Given the description of an element on the screen output the (x, y) to click on. 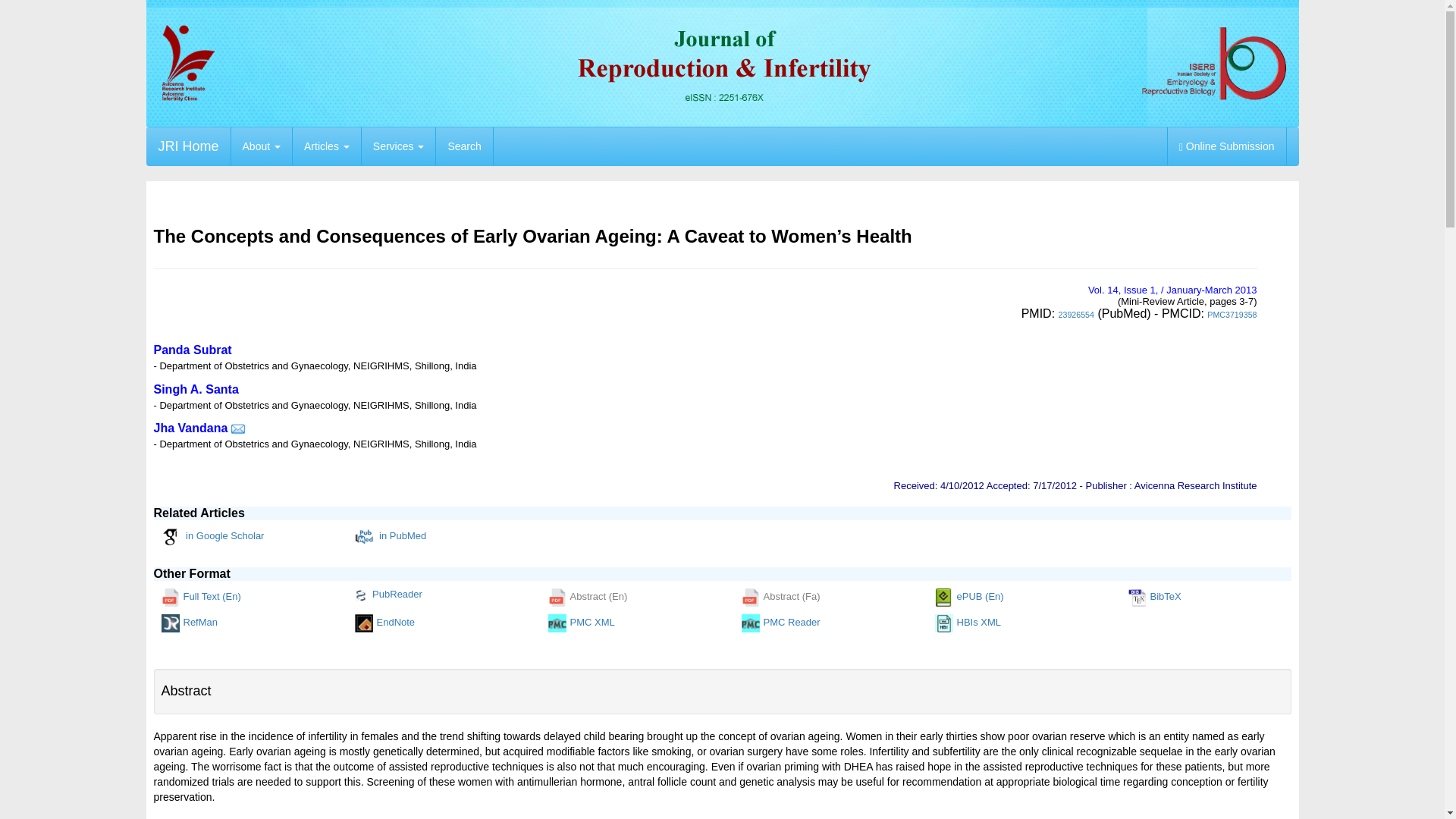
PubMed Central XML (601, 623)
PMC3719358 (1231, 314)
JRI Home (188, 146)
BibTex (1180, 597)
Singh A. Santa (195, 389)
Services (398, 146)
PubMed ID (1076, 314)
 PubReader (407, 594)
in Google Scholar (210, 536)
HBIs XML (988, 623)
PubMed Central XML Reader (793, 623)
About (261, 146)
PubMed Central ID (1231, 314)
 Online Submission (1227, 146)
Jha Vandana (189, 427)
